Given the description of an element on the screen output the (x, y) to click on. 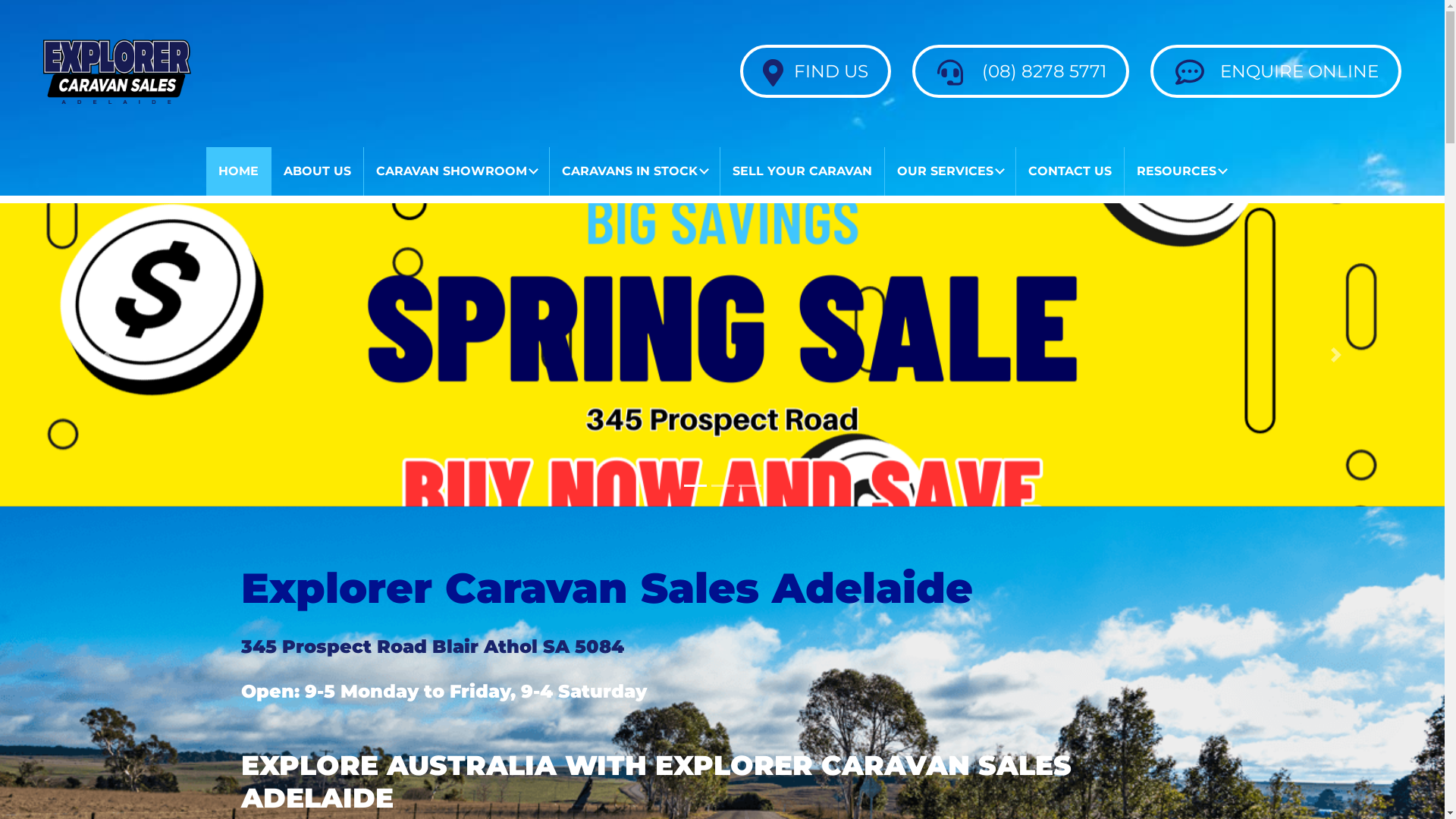
CARAVANS IN STOCK Element type: text (634, 171)
Previous Element type: text (108, 354)
RESOURCES Element type: text (1181, 171)
CARAVAN SHOWROOM Element type: text (456, 171)
Next Element type: text (1335, 354)
ABOUT US Element type: text (317, 171)
SELL YOUR CARAVAN Element type: text (802, 171)
OUR SERVICES Element type: text (949, 171)
ENQUIRE ONLINE Element type: text (1275, 70)
HOME Element type: text (238, 171)
FIND US Element type: text (815, 70)
EXPLORER CARAVAN SALES ADELAIDE Element type: text (117, 70)
(08) 8278 5771 Element type: text (1020, 70)
CONTACT US Element type: text (1069, 171)
